Given the description of an element on the screen output the (x, y) to click on. 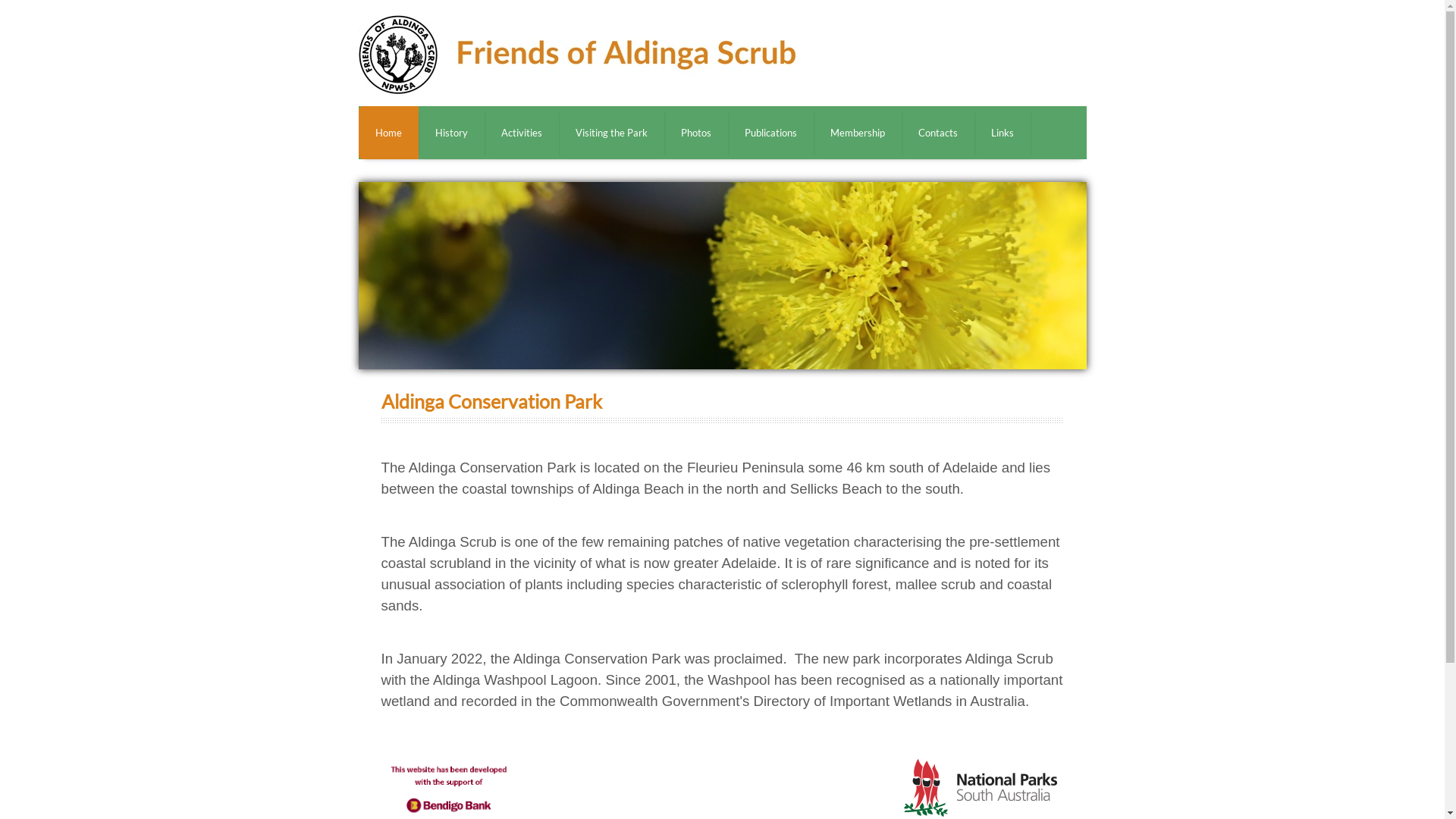
Publications Element type: text (770, 132)
Photos Element type: text (696, 132)
Membership Element type: text (856, 132)
Links Element type: text (1001, 132)
History Element type: text (451, 132)
Contacts Element type: text (936, 132)
Home Element type: text (387, 132)
Visiting the Park Element type: text (610, 132)
Activities Element type: text (520, 132)
